Given the description of an element on the screen output the (x, y) to click on. 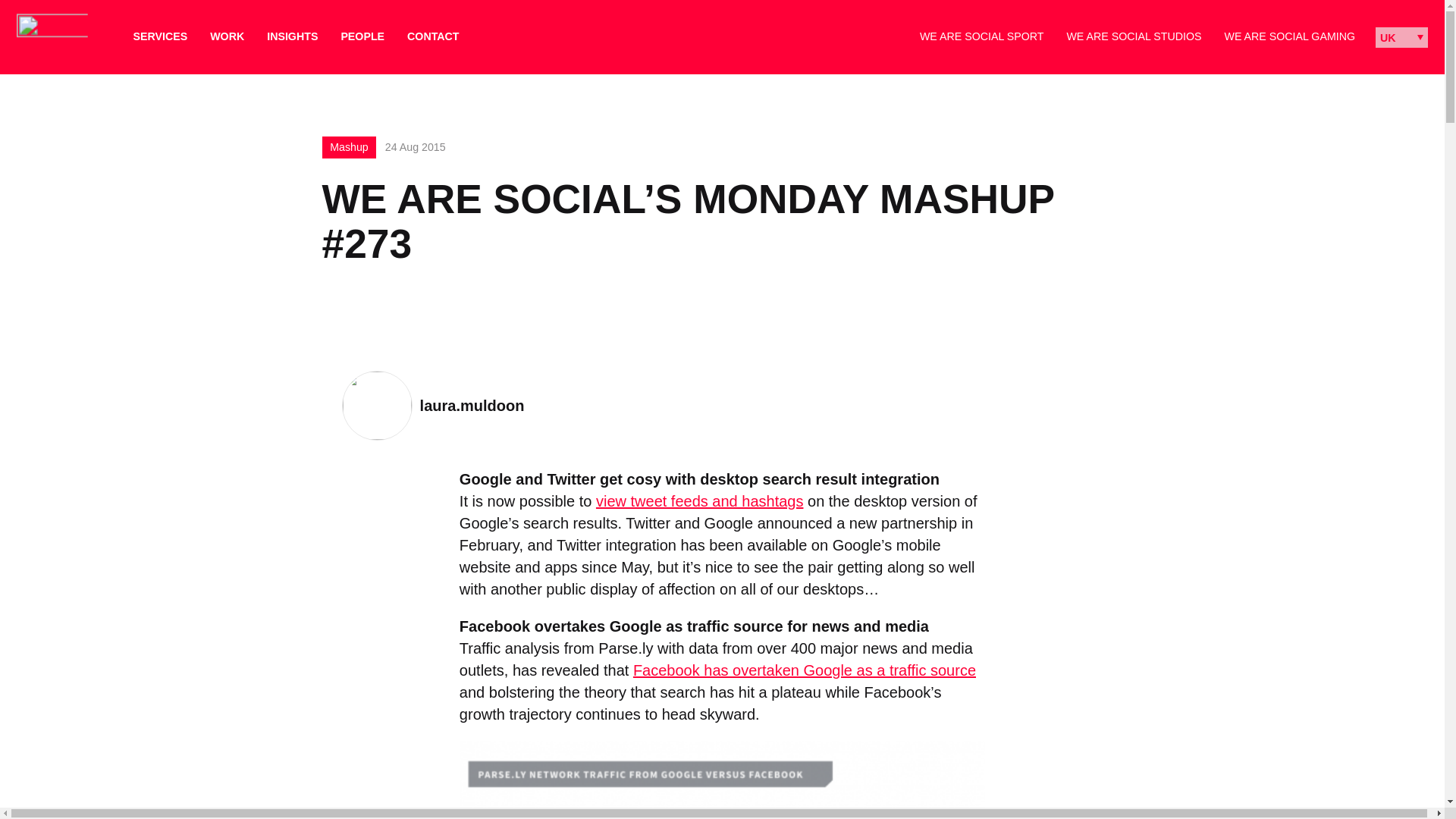
Insights (291, 36)
view tweet feeds and hashtags (699, 501)
PEOPLE (362, 36)
Facebook has overtaken Google as a traffic source (804, 669)
WE ARE SOCIAL SPORT (981, 36)
We Are Social Studios (1133, 36)
CONTACT (432, 36)
SERVICES (160, 36)
INSIGHTS (291, 36)
We Are Social Sport (981, 36)
